Given the description of an element on the screen output the (x, y) to click on. 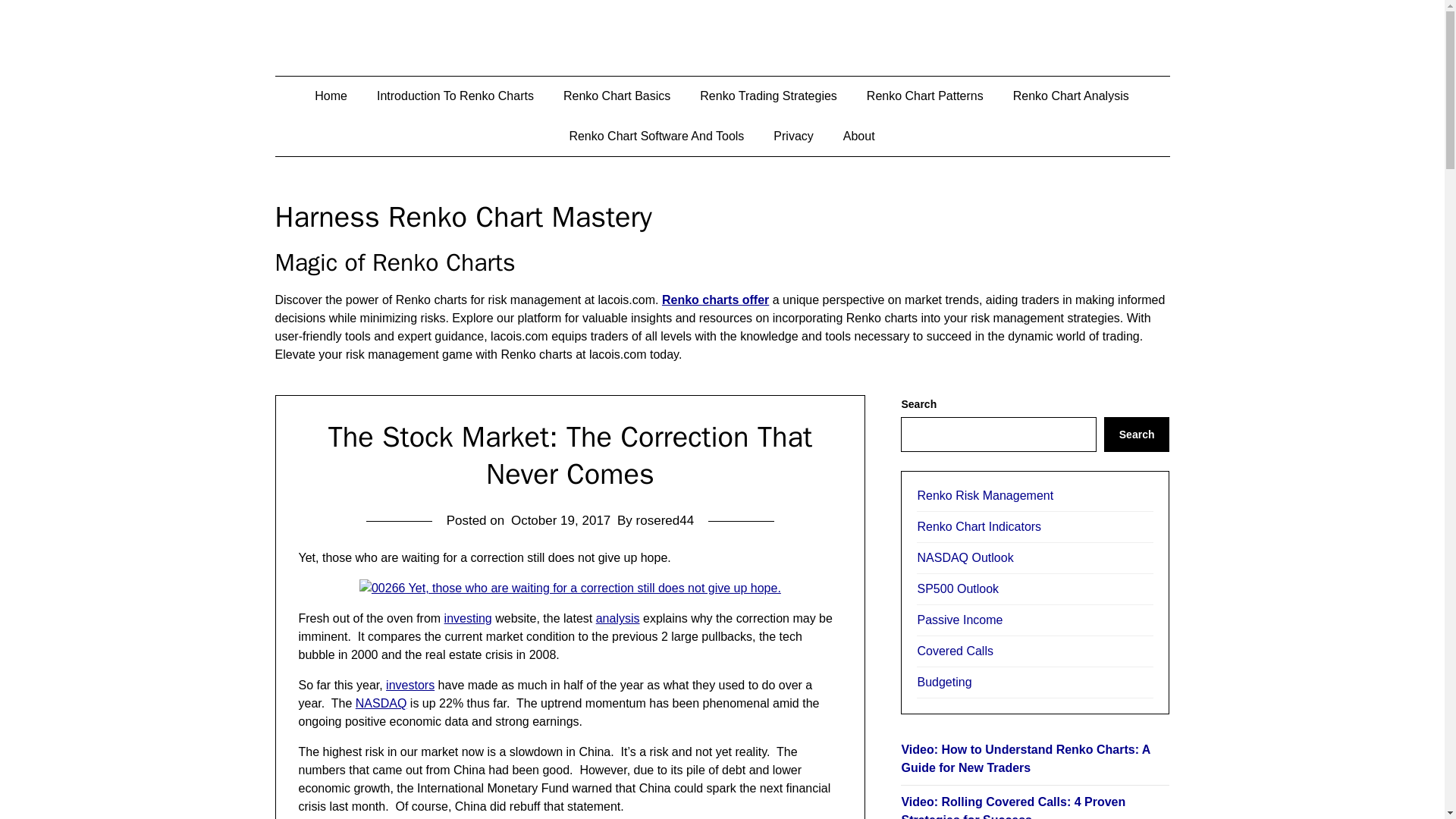
The Stock Market: The Correction That Never Comes 1 (569, 588)
Renko Chart Basics (616, 96)
October 19, 2017 (560, 520)
Privacy (793, 136)
Renko charts offer (715, 299)
analysis (617, 617)
Home (330, 96)
SP500 Outlook (1035, 589)
Renko Chart Patterns (924, 96)
NASDAQ Outlook (1035, 558)
Renko Chart Indicators (1035, 526)
Renko Trading Strategies (767, 96)
Renko Chart Analysis (1070, 96)
investing (468, 617)
Search (1136, 434)
